Given the description of an element on the screen output the (x, y) to click on. 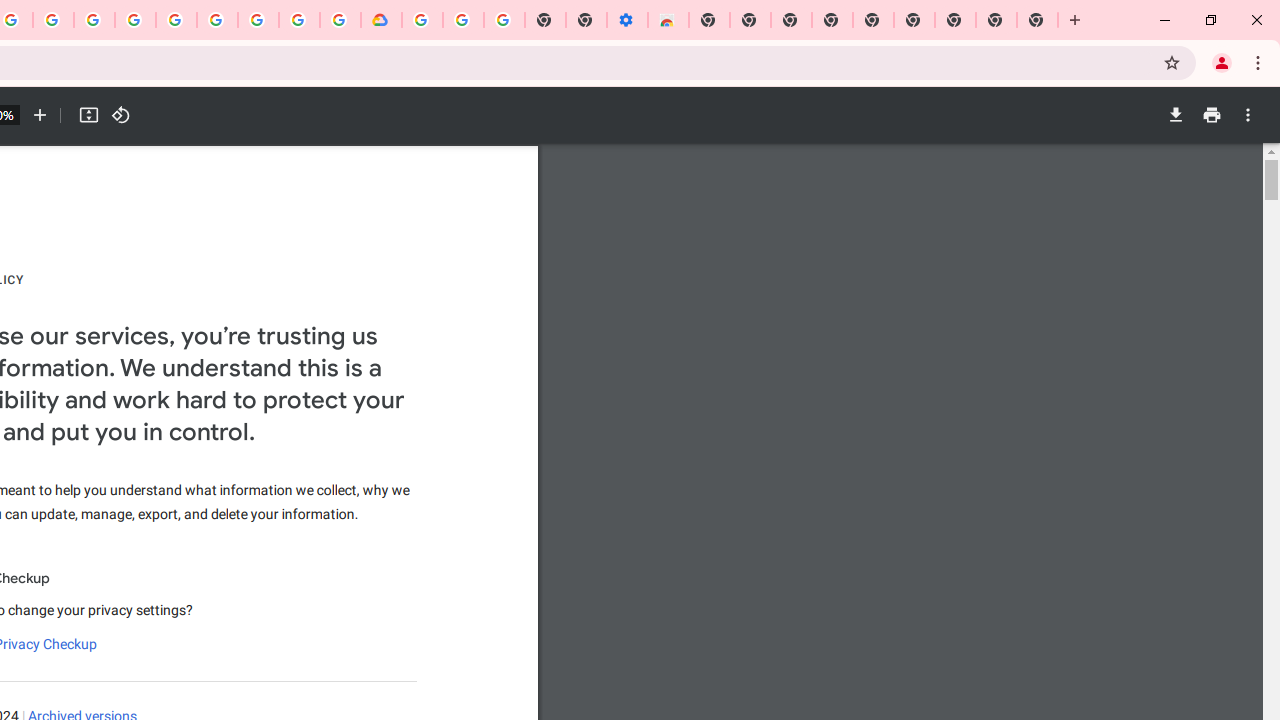
Browse the Google Chrome Community - Google Chrome Community (340, 20)
Create your Google Account (53, 20)
Sign in - Google Accounts (421, 20)
Google Account Help (217, 20)
More actions (1247, 115)
Download (1175, 115)
Chrome Web Store - Accessibility extensions (667, 20)
Print (1211, 115)
Google Account Help (462, 20)
